Given the description of an element on the screen output the (x, y) to click on. 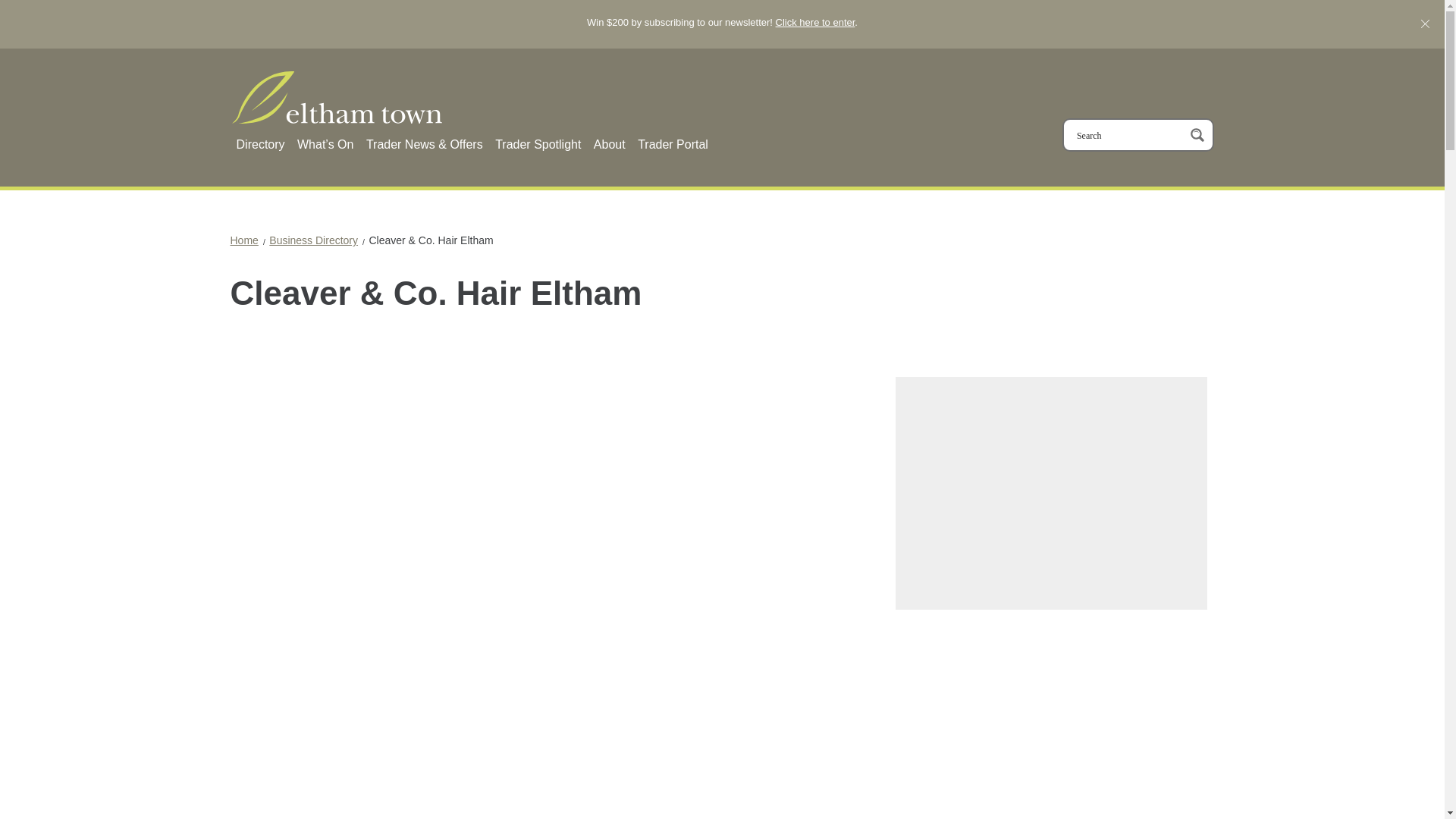
Directory (260, 144)
Click here to enter (816, 21)
